Given the description of an element on the screen output the (x, y) to click on. 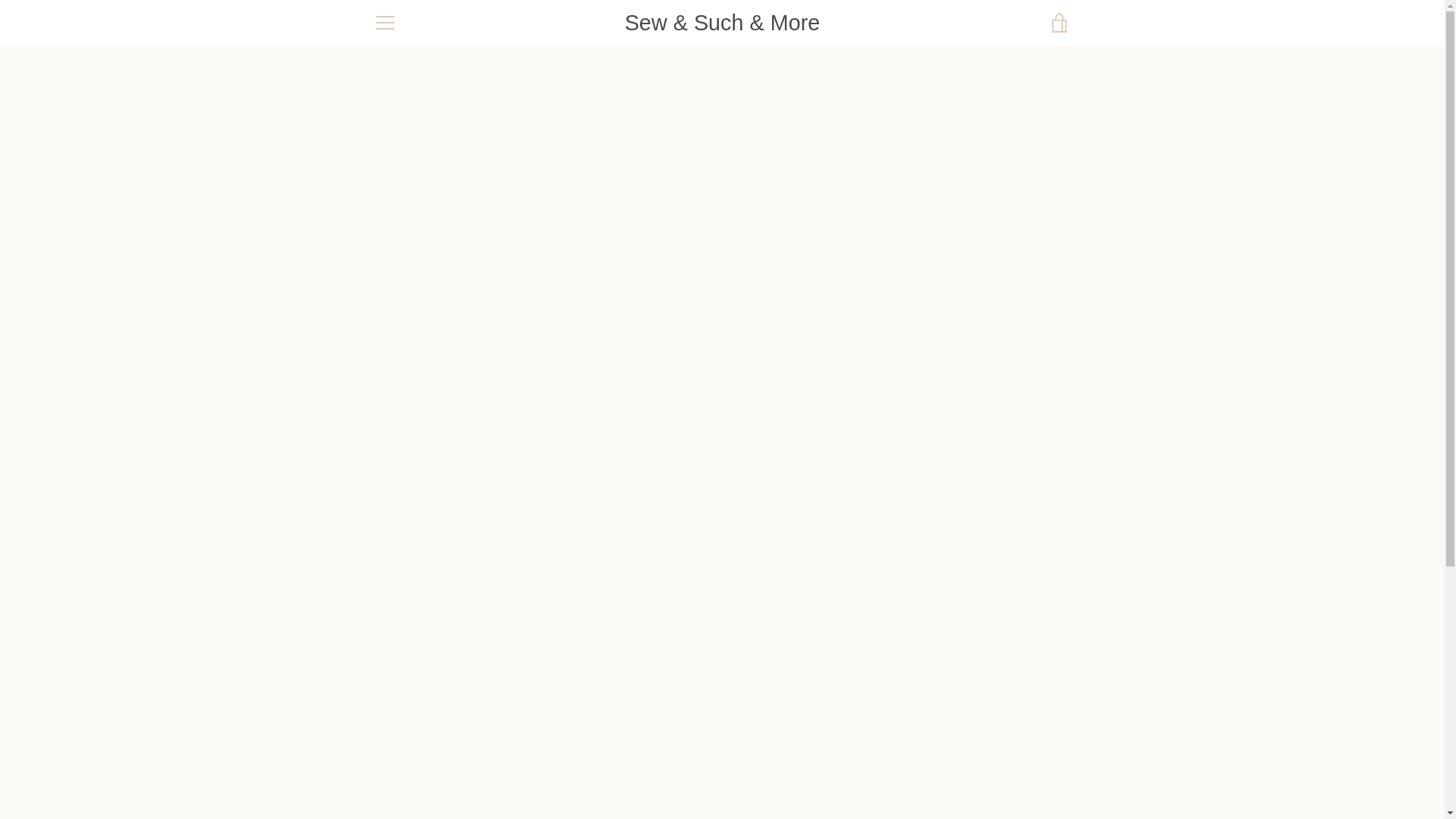
MENU (384, 22)
VIEW CART (1059, 22)
